Given the description of an element on the screen output the (x, y) to click on. 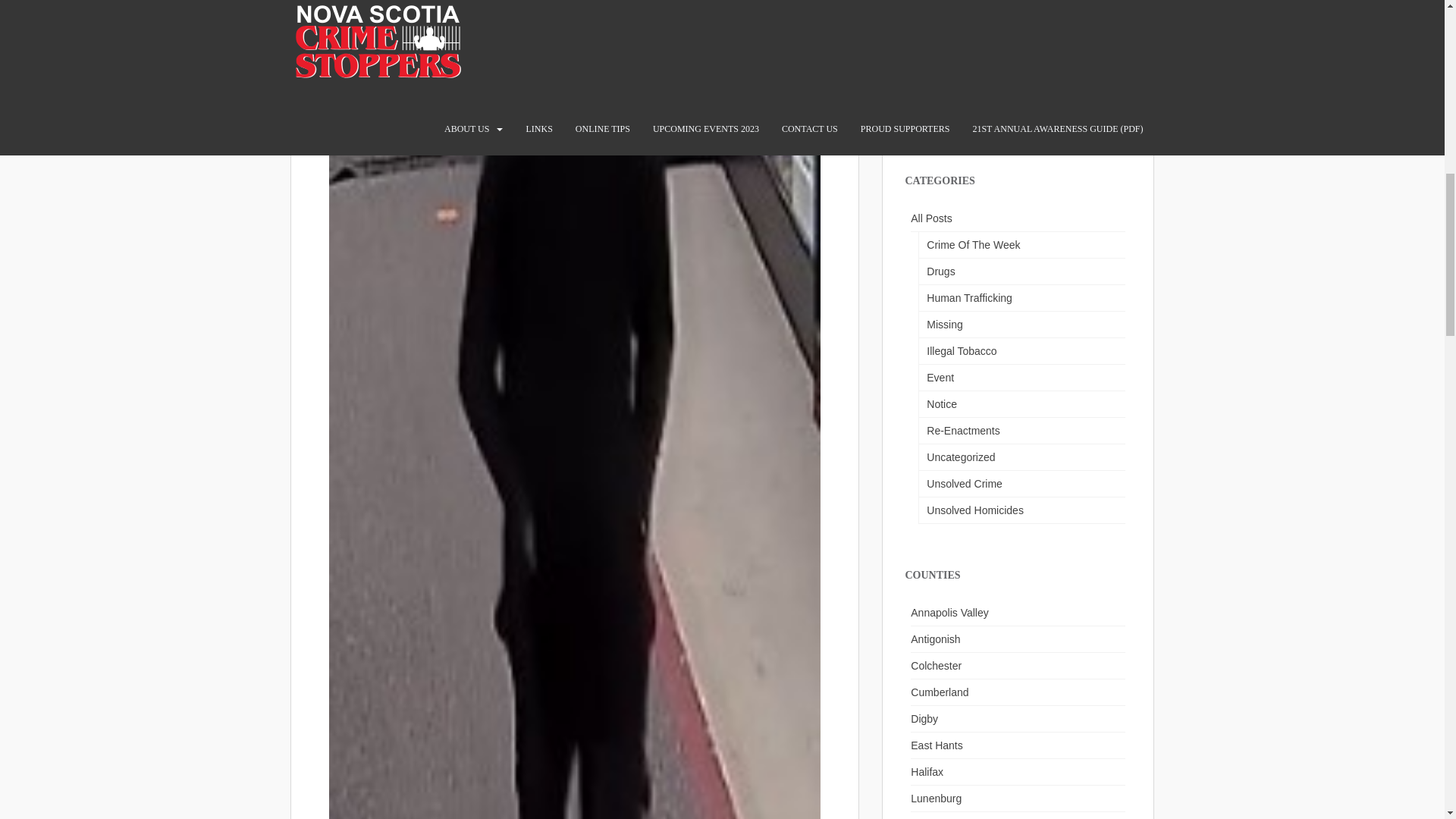
Search for: (1006, 124)
Printable Donation Form (962, 24)
Human Trafficking (1021, 298)
Drugs (1021, 271)
Event (1021, 377)
Crime Of The Week (1021, 244)
Missing (1021, 325)
Illegal Tobacco (1021, 351)
Search (1118, 124)
Notice (1021, 404)
Re-Enactments (1021, 430)
All Posts (1017, 218)
